Given the description of an element on the screen output the (x, y) to click on. 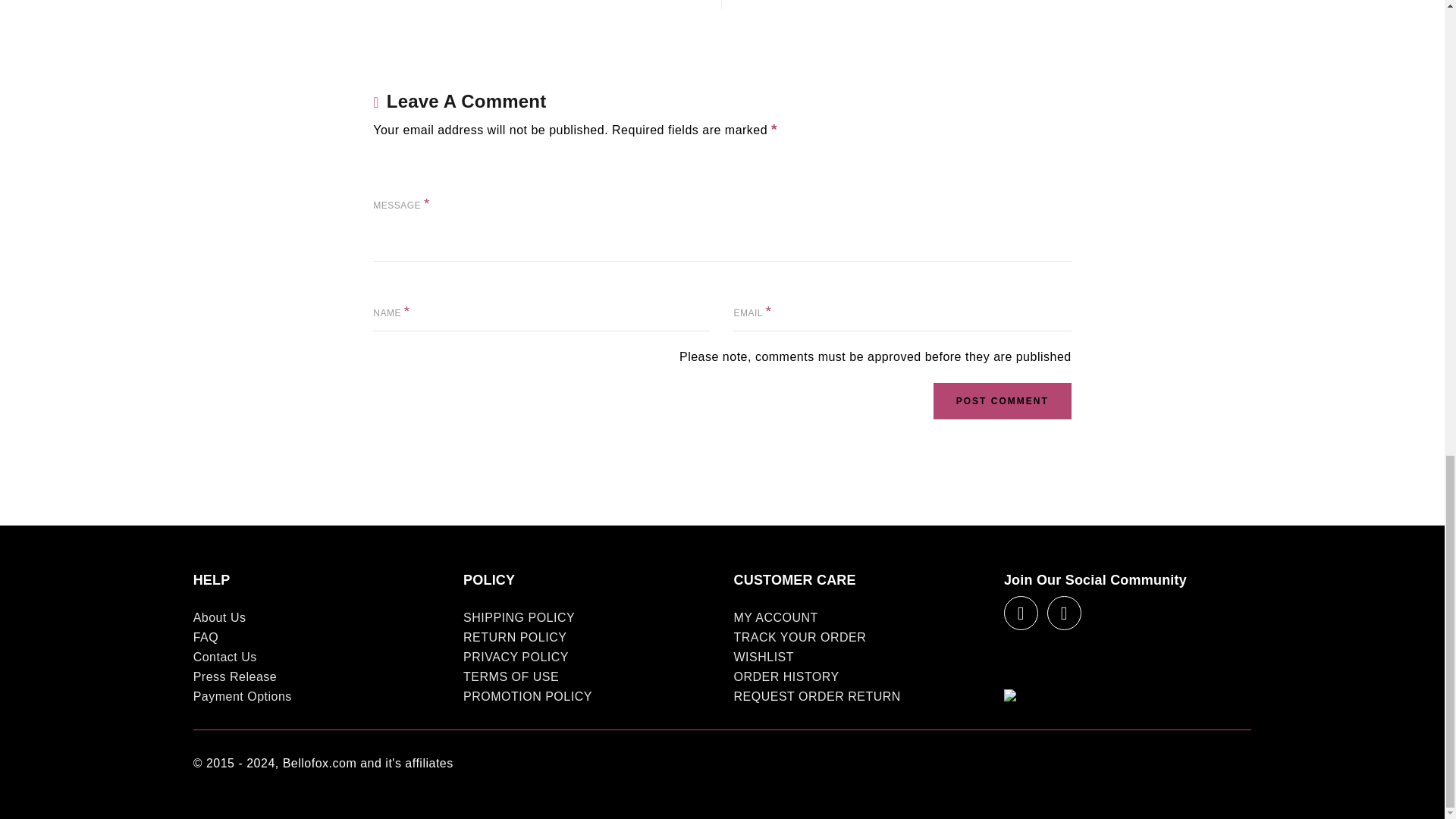
Post comment (1002, 401)
